Given the description of an element on the screen output the (x, y) to click on. 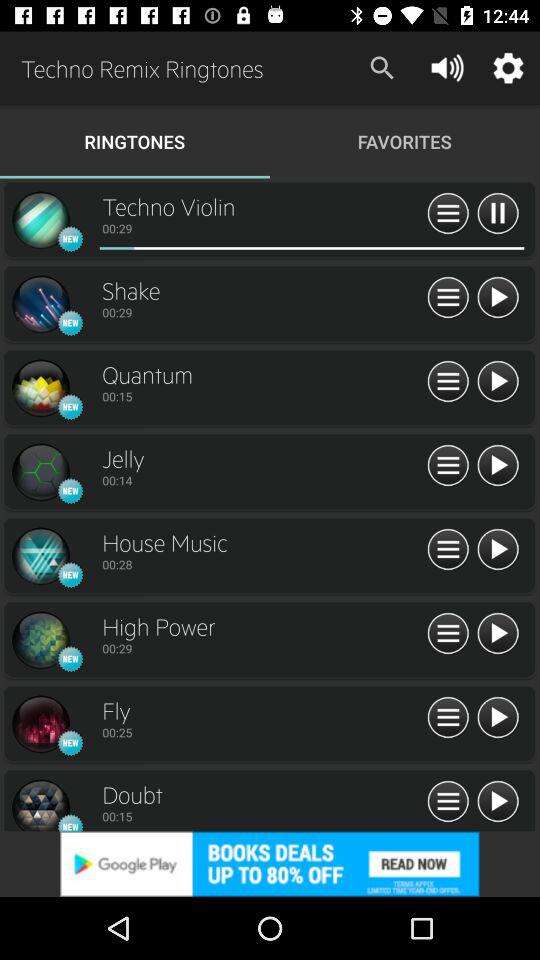
click pause button (447, 213)
